Given the description of an element on the screen output the (x, y) to click on. 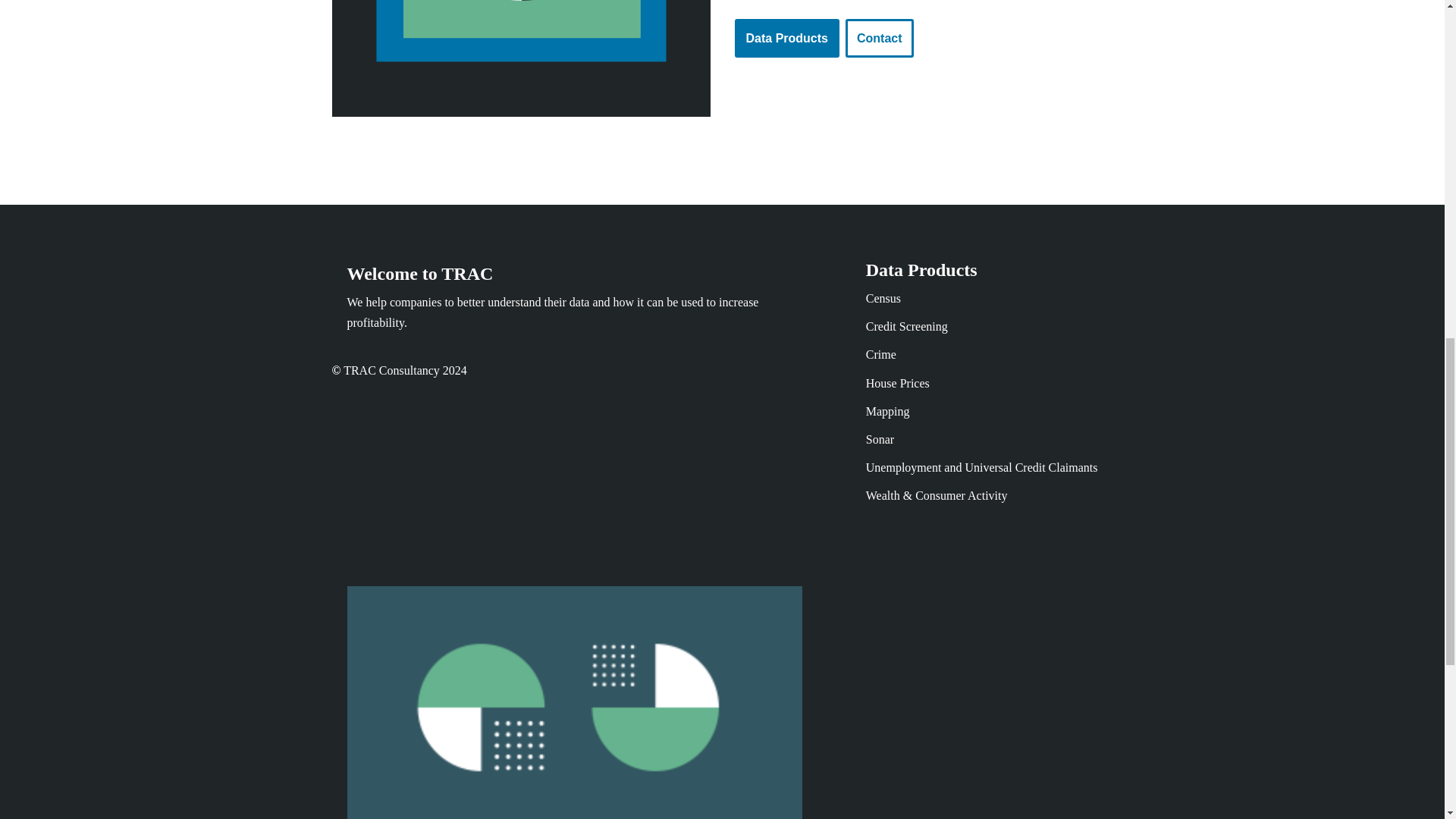
Contact (879, 38)
Data Products (785, 38)
